Given the description of an element on the screen output the (x, y) to click on. 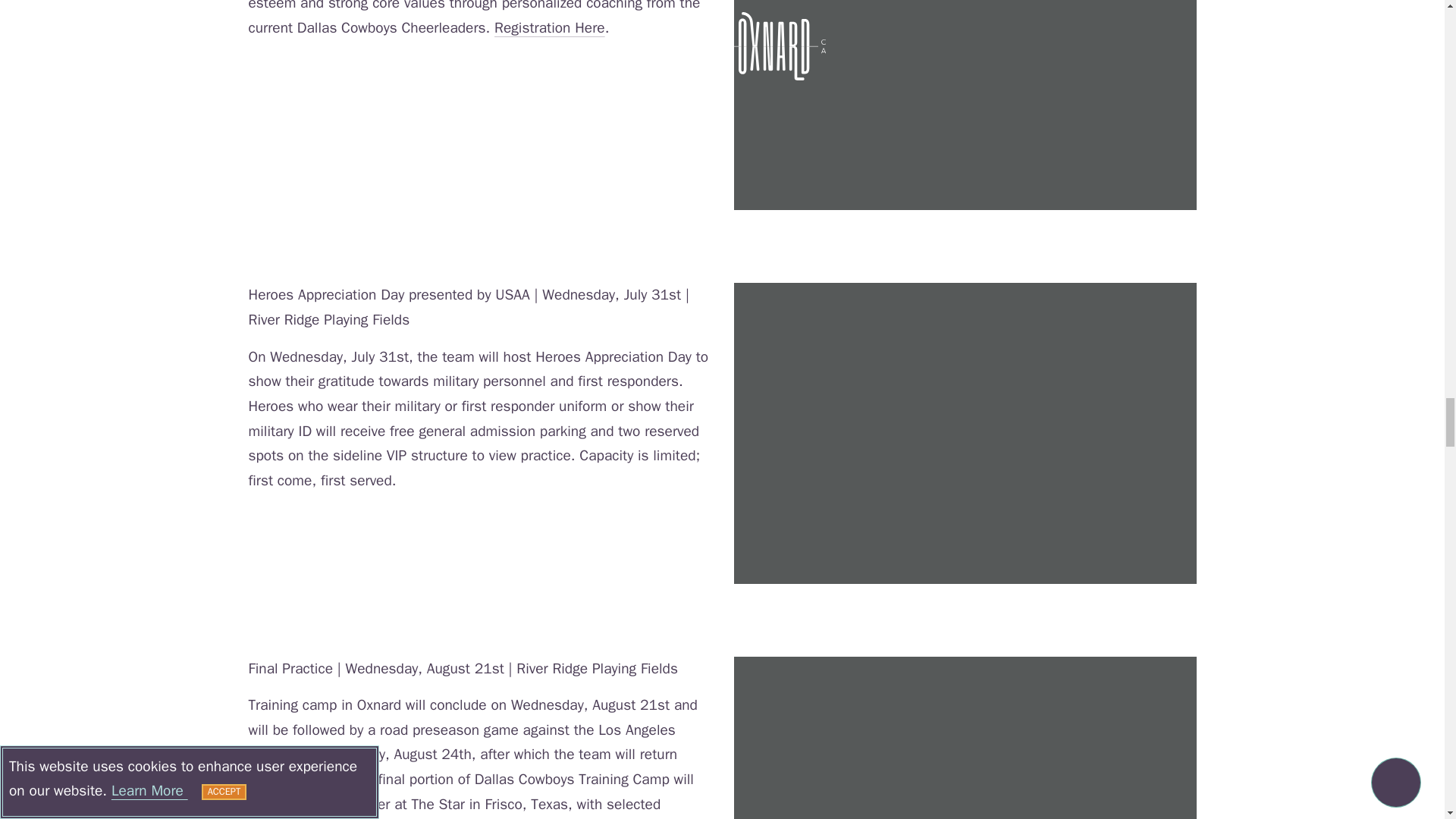
Registration Here (550, 27)
